Given the description of an element on the screen output the (x, y) to click on. 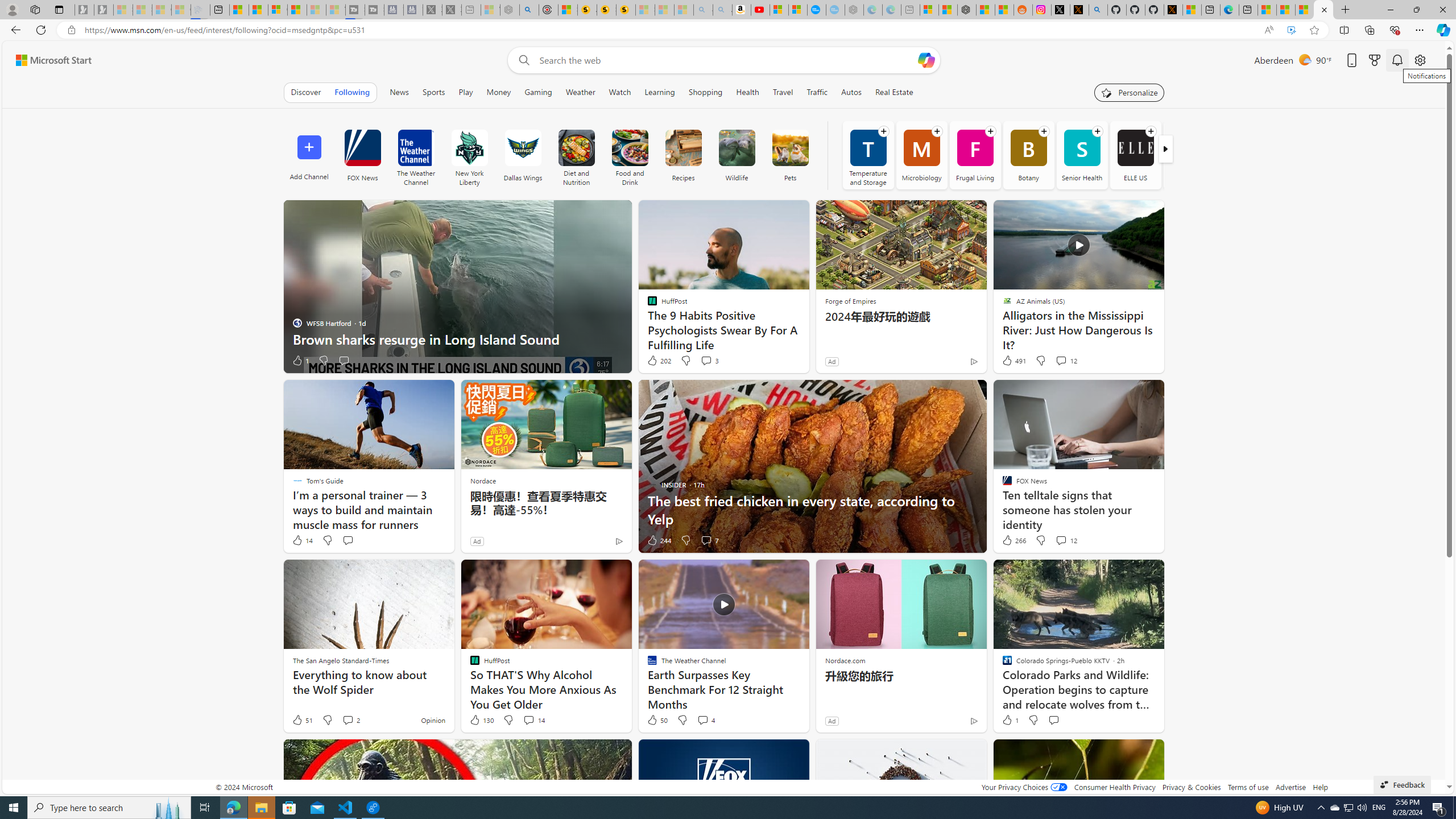
202 Like (658, 360)
Terms of use (1247, 786)
View comments 12 Comment (1065, 539)
Open settings (1420, 60)
The most popular Google 'how to' searches - Sleeping (835, 9)
View comments 7 Comment (705, 540)
Nordace.com (845, 660)
Consumer Health Privacy (1115, 786)
Newsletter Sign Up - Sleeping (102, 9)
